Given the description of an element on the screen output the (x, y) to click on. 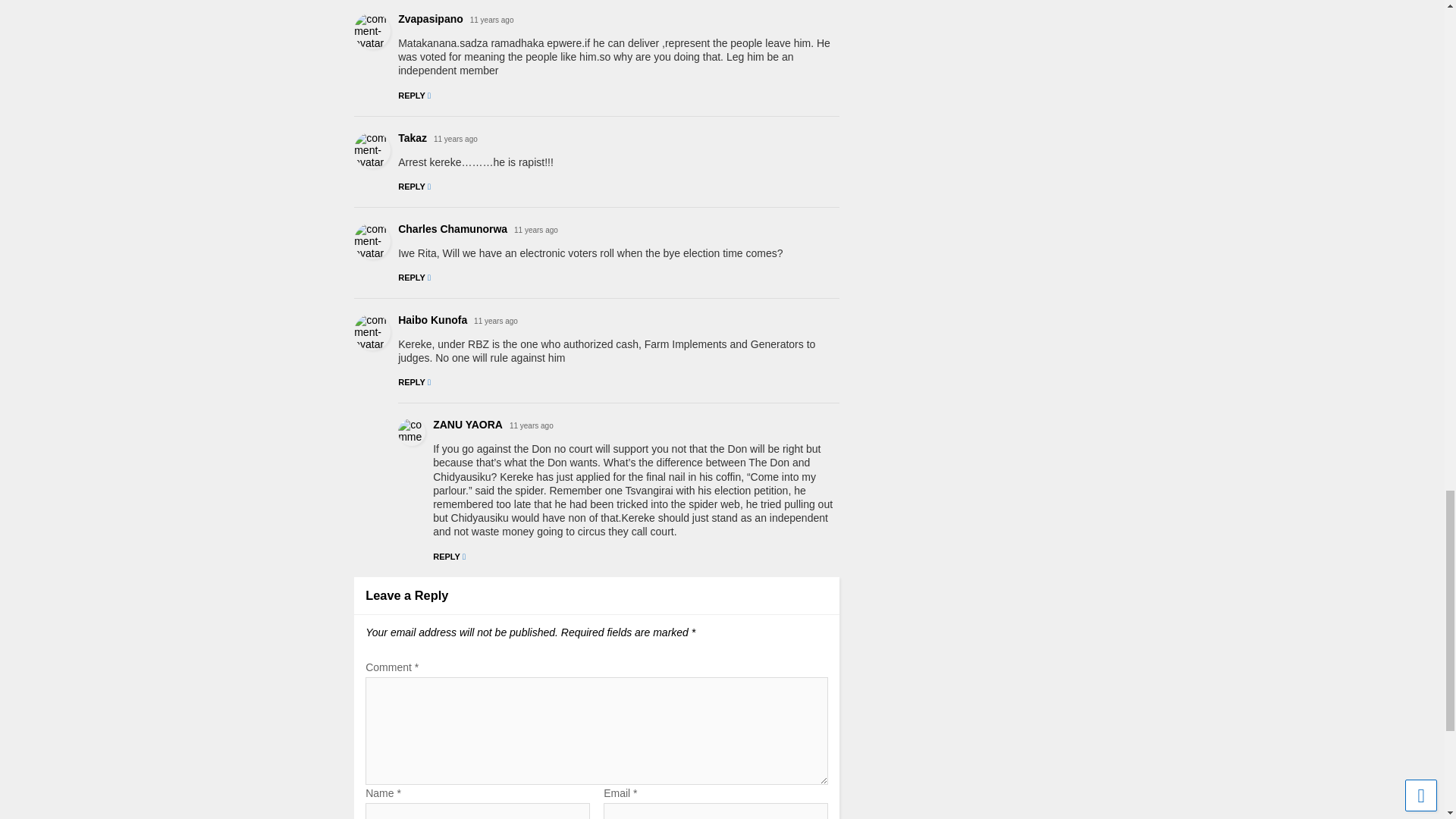
REPLY (413, 185)
11 years ago (535, 230)
REPLY (413, 276)
REPLY (413, 94)
11 years ago (491, 19)
11 years ago (455, 139)
